Given the description of an element on the screen output the (x, y) to click on. 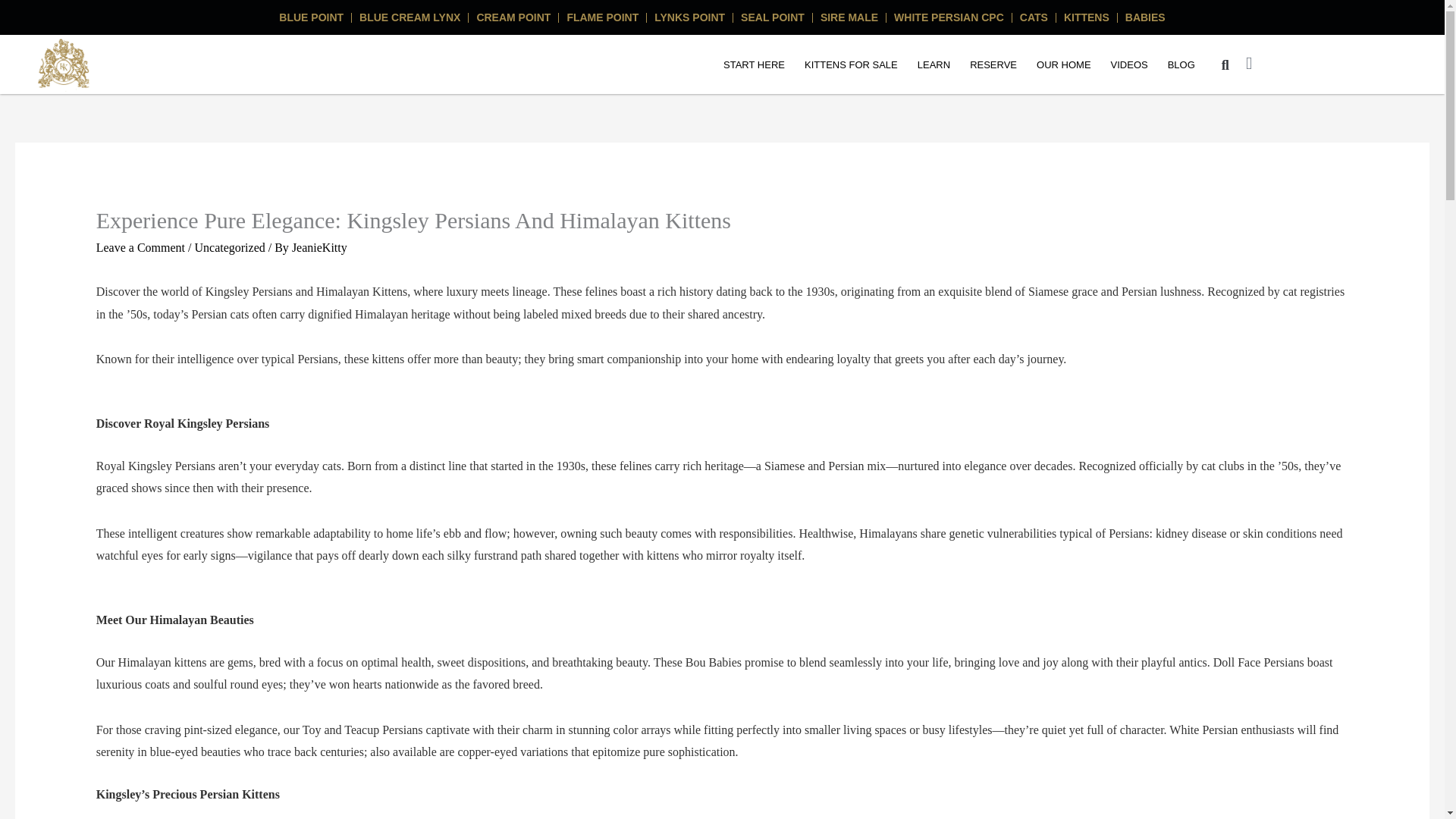
CATS (1033, 17)
WHITE PERSIAN CPC (948, 17)
FLAME POINT (602, 17)
SIRE MALE (848, 17)
CREAM POINT (512, 17)
LYNKS POINT (689, 17)
BABIES (1145, 17)
SEAL POINT (772, 17)
BLUE CREAM LYNX (409, 17)
KITTENS (1086, 17)
View all posts by JeanieKitty (319, 246)
BLUE POINT (310, 17)
